Given the description of an element on the screen output the (x, y) to click on. 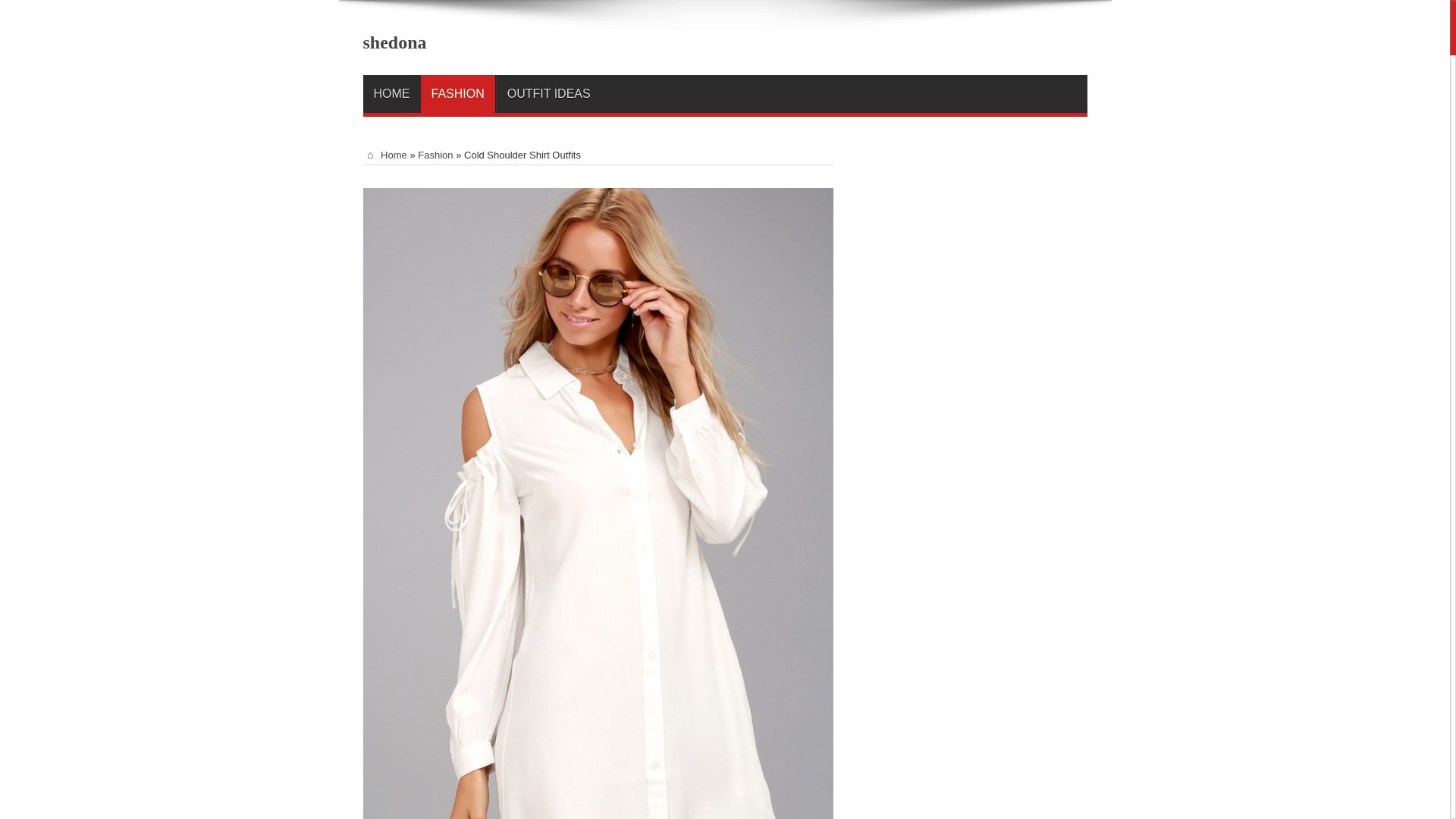
OUTFIT IDEAS (548, 94)
Home (384, 154)
FASHION (457, 94)
shedona (394, 42)
Fashion (434, 154)
HOME (391, 94)
